Given the description of an element on the screen output the (x, y) to click on. 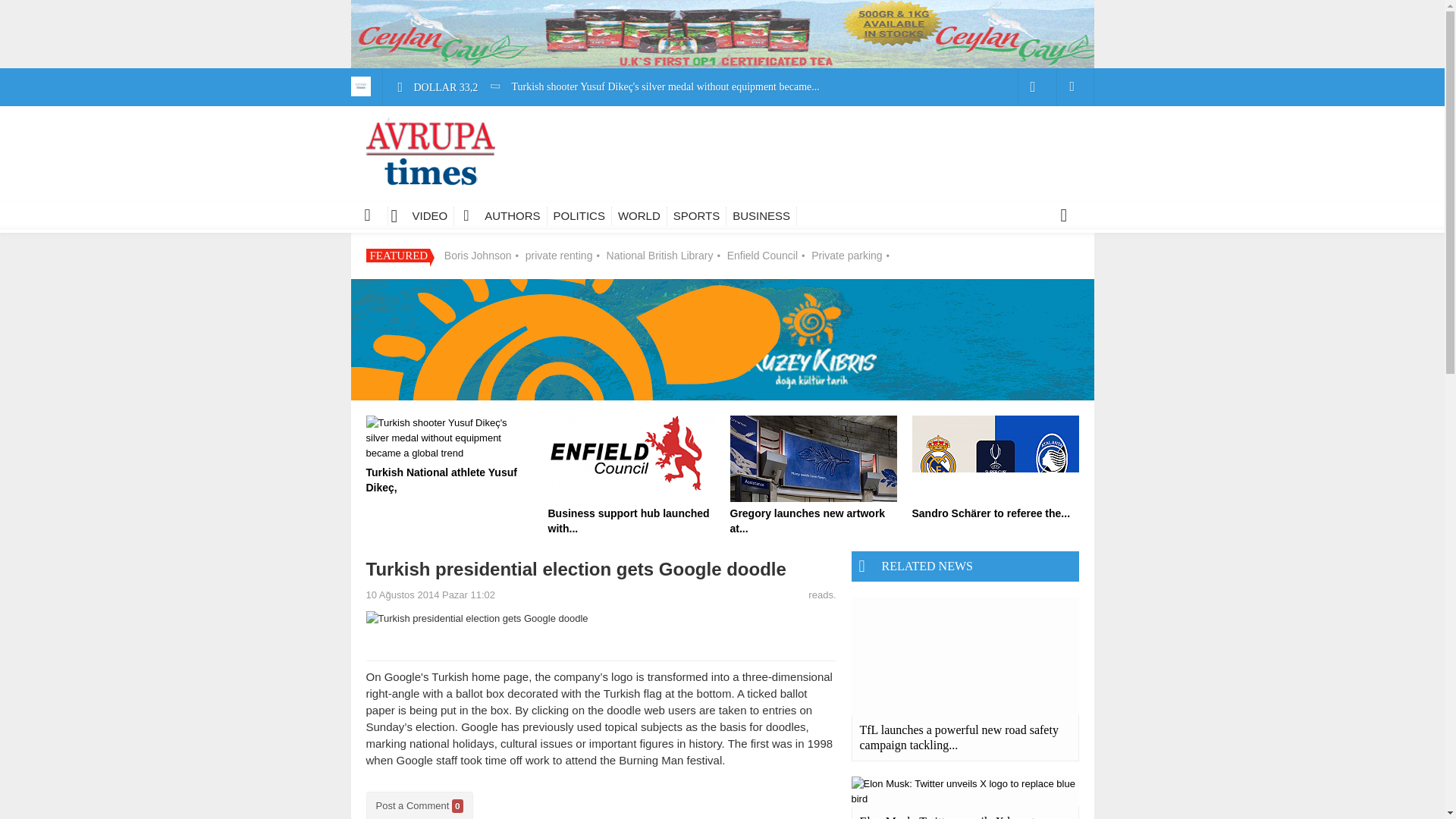
MBA program at Kazakh National Research University (616, 239)
BUSINESS (761, 216)
Business support hub launched with Enfield Council (611, 126)
VIDEO (424, 216)
MBA program at Kazakh National Research University (616, 239)
BUSINESS (761, 216)
WORLD (638, 216)
Second Enfield Youth and Family hub opens in Craig Park (623, 429)
SPORTS (696, 216)
POLITICS (579, 216)
Business support hub launched with Enfield Council (611, 126)
Second Enfield Youth and Family hub opens in Craig Park (623, 429)
